Given the description of an element on the screen output the (x, y) to click on. 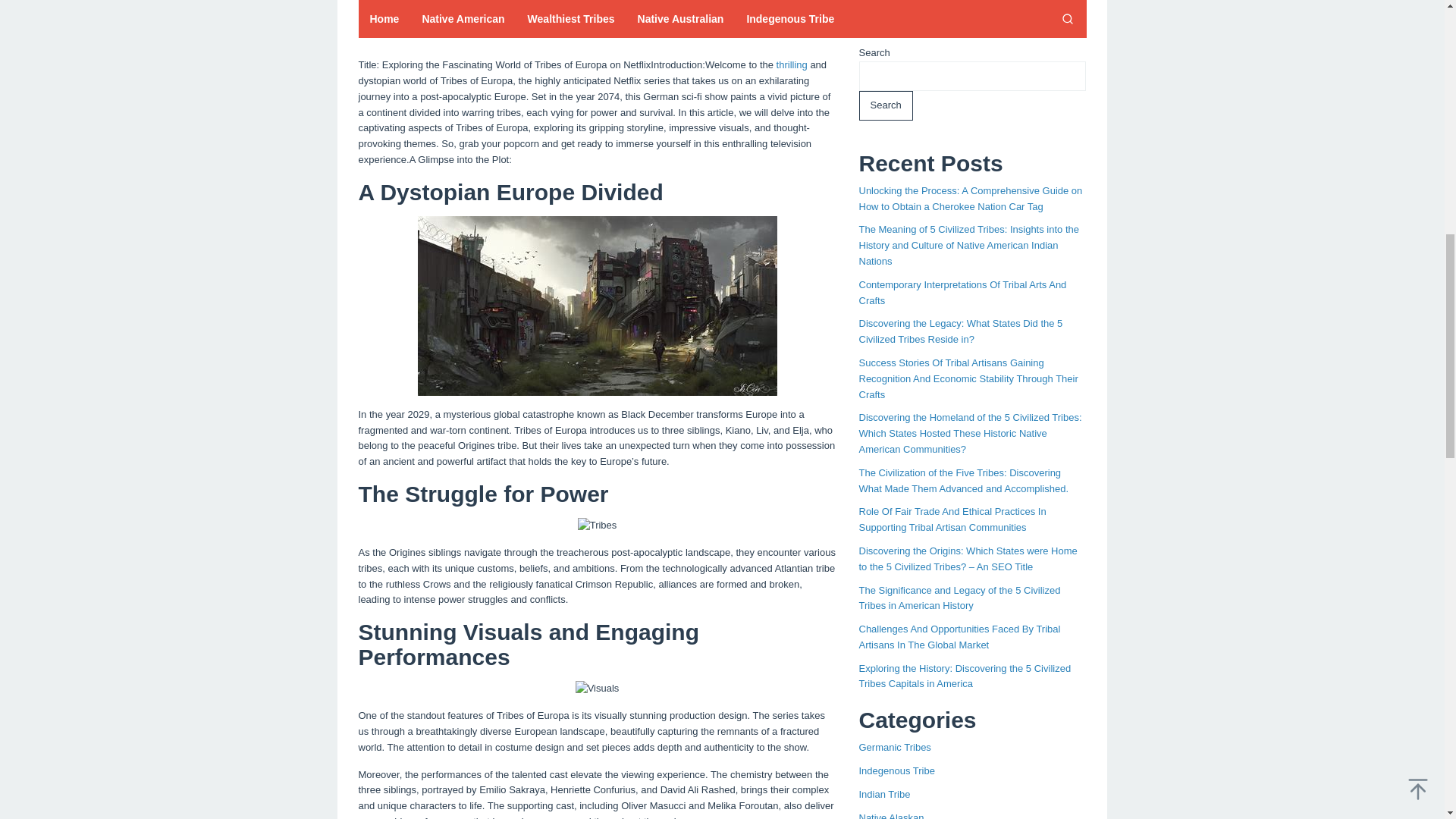
thrilling (792, 64)
